Given the description of an element on the screen output the (x, y) to click on. 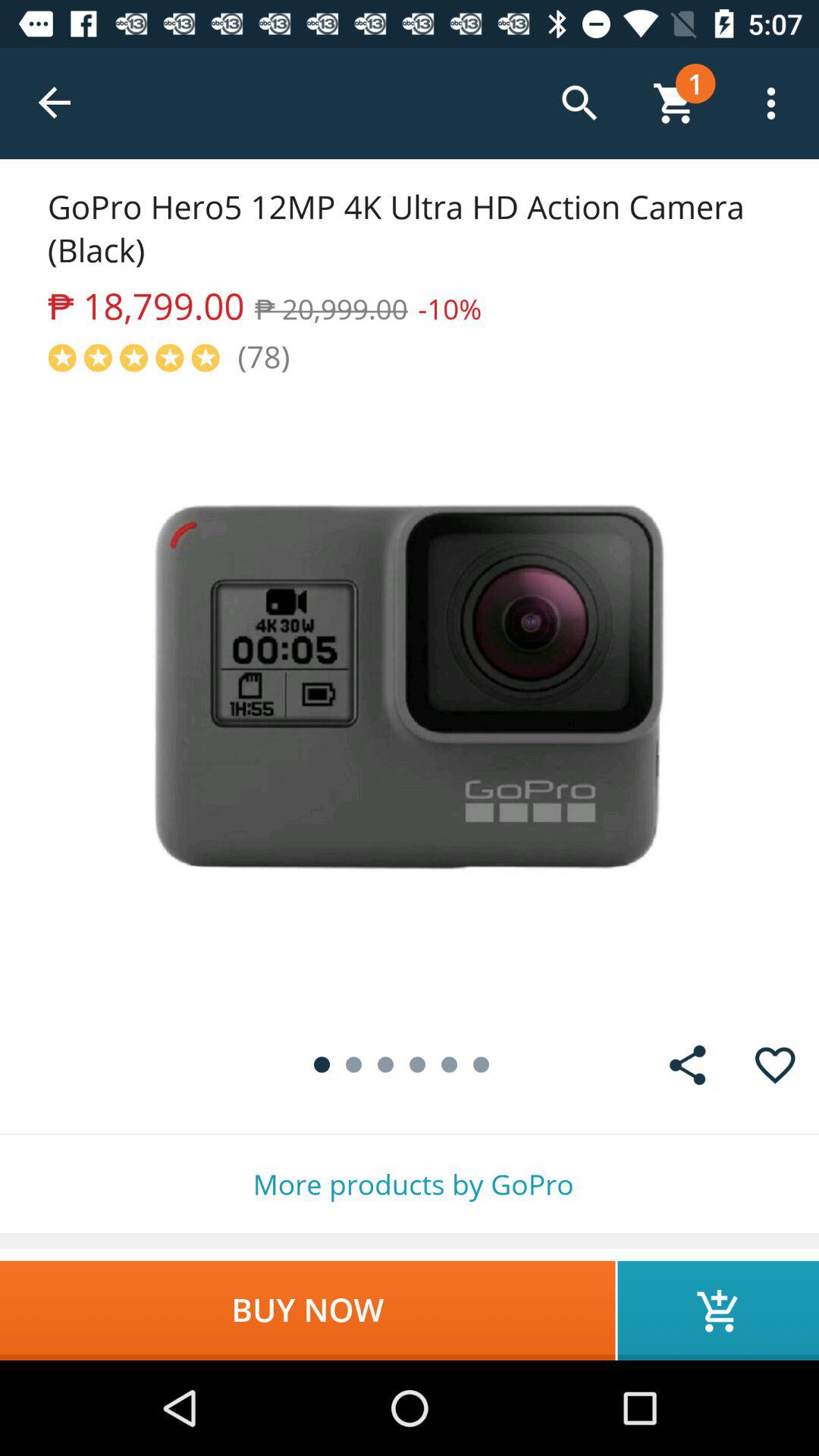
description (409, 698)
